Given the description of an element on the screen output the (x, y) to click on. 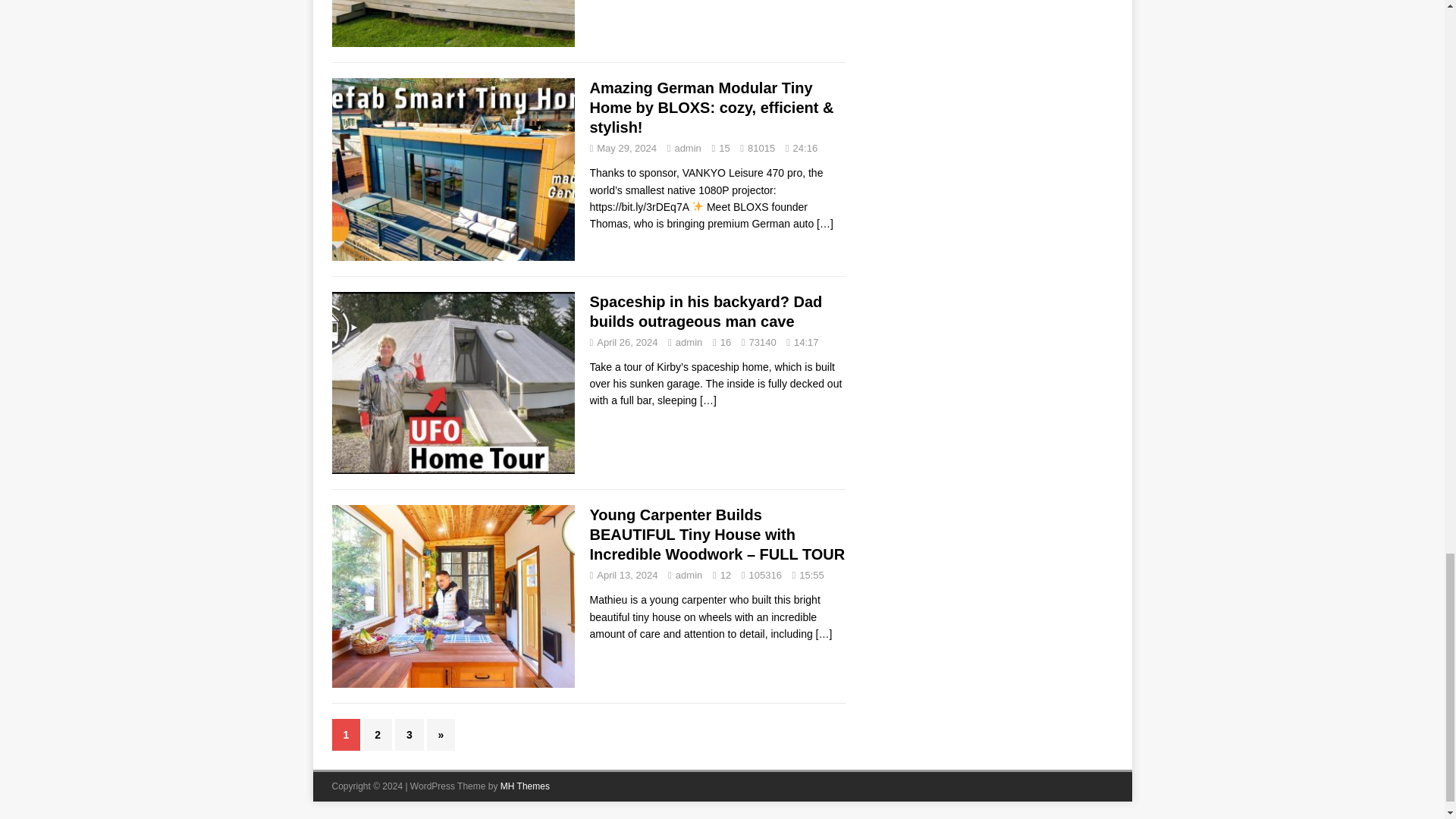
admin (687, 147)
Spaceship in his backyard? Dad builds outrageous man cave (708, 399)
